Given the description of an element on the screen output the (x, y) to click on. 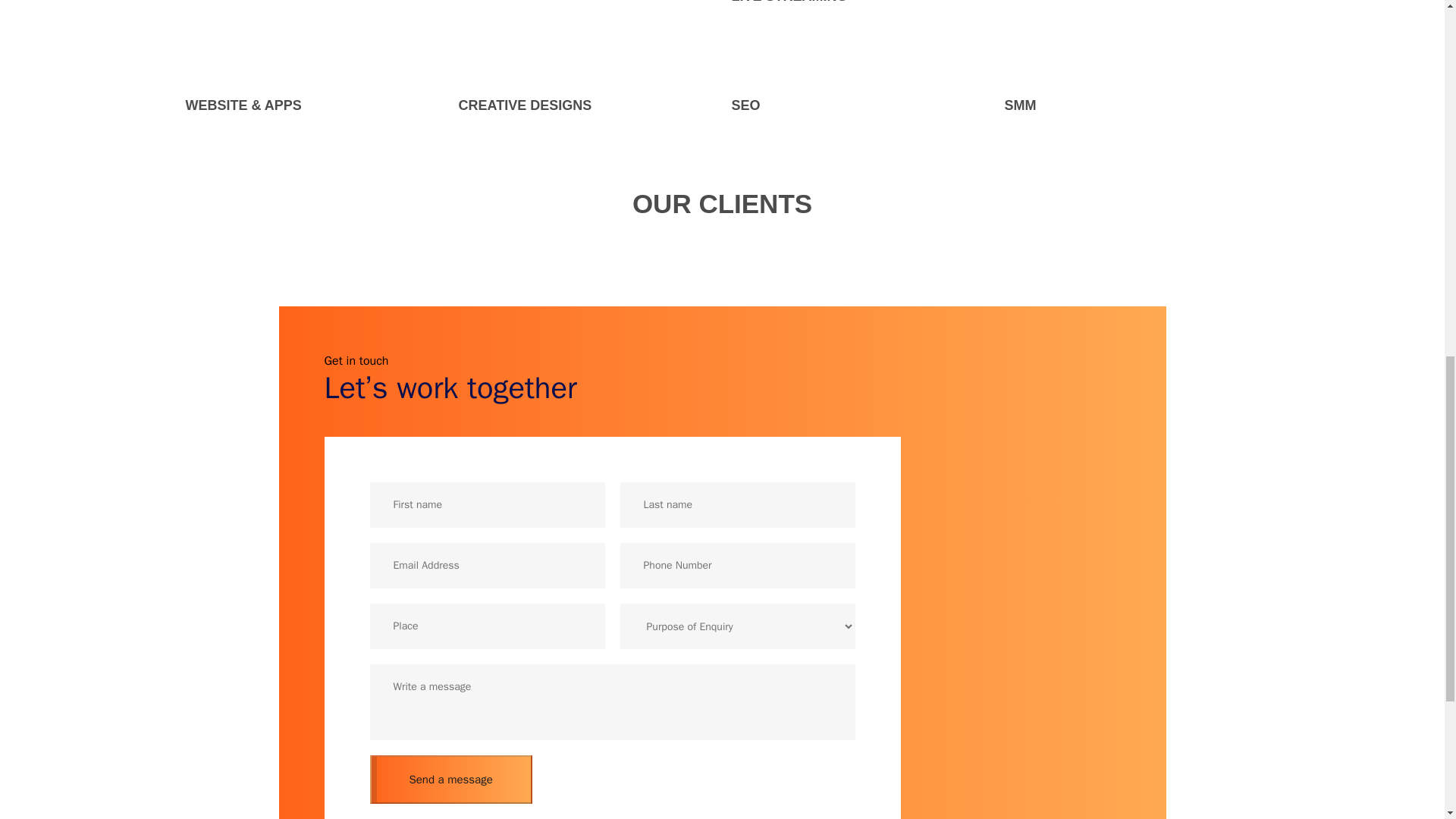
Send a message (150, 779)
